Given the description of an element on the screen output the (x, y) to click on. 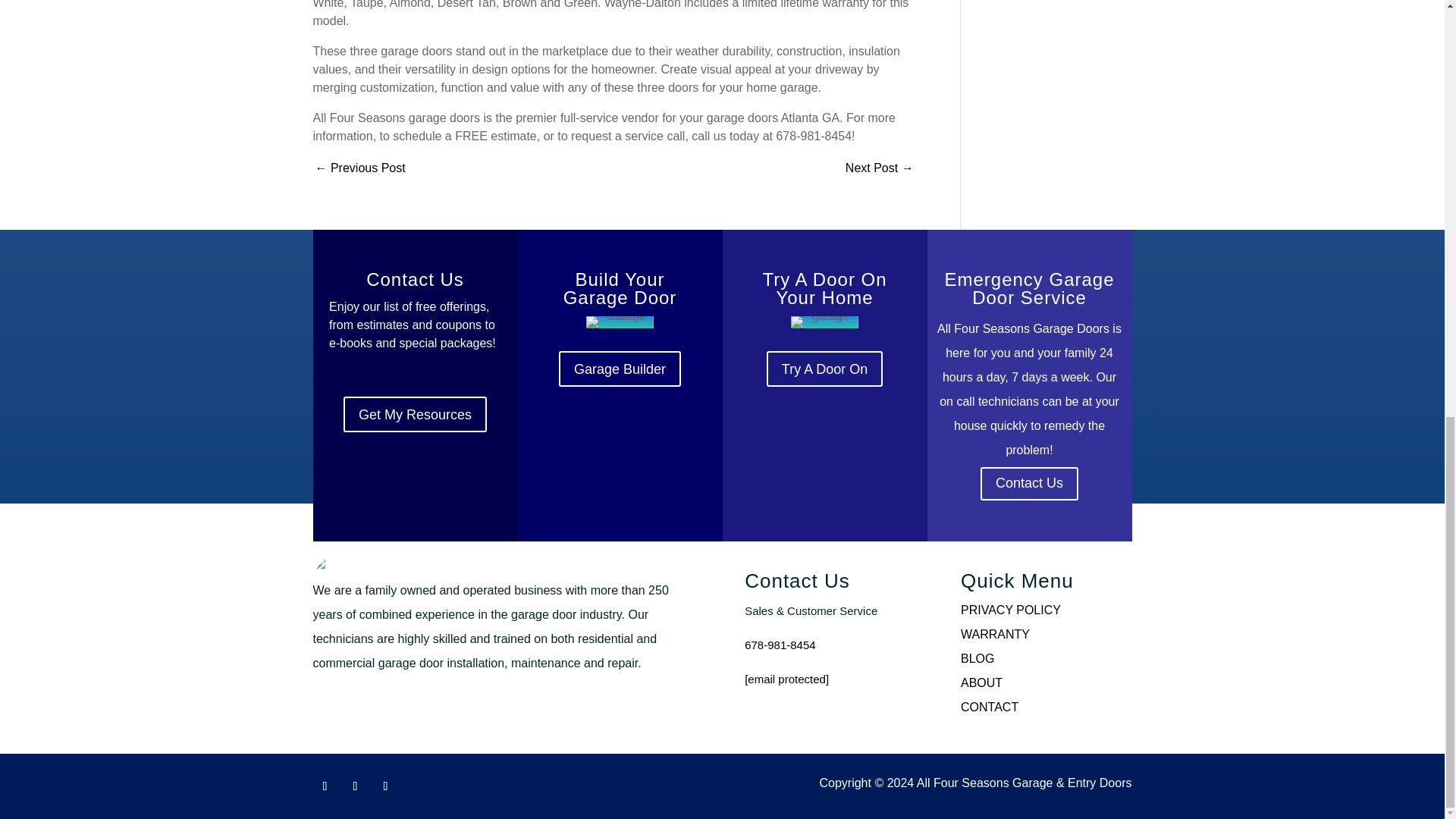
garage door (823, 322)
BLOG (977, 658)
Garage Builder (620, 368)
Follow on X (384, 785)
Follow on Instagram (354, 785)
678-981-8454 (779, 644)
Follow on Facebook (324, 785)
WARRANTY (994, 634)
Get My Resources (414, 414)
Contact Us (1028, 483)
